Given the description of an element on the screen output the (x, y) to click on. 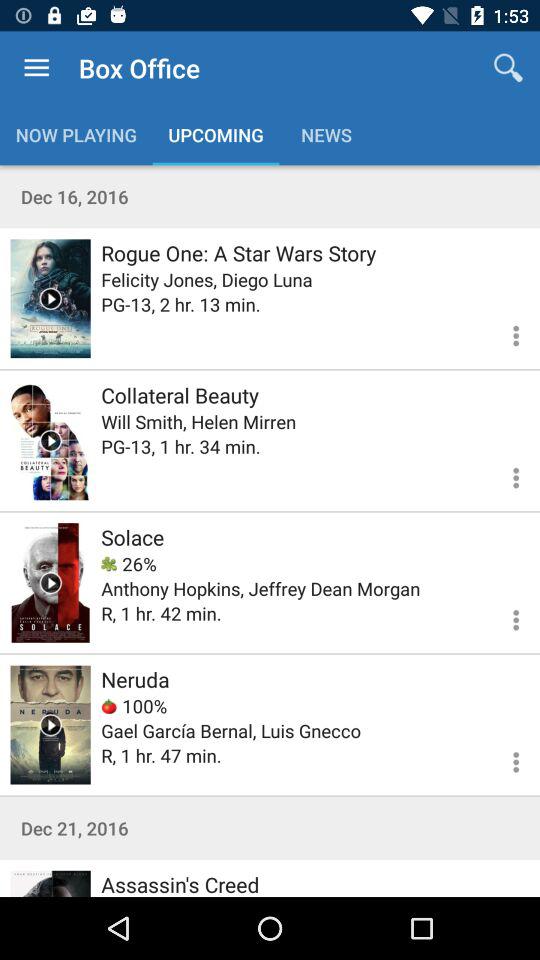
play trailer for collateral beauty (50, 440)
